Given the description of an element on the screen output the (x, y) to click on. 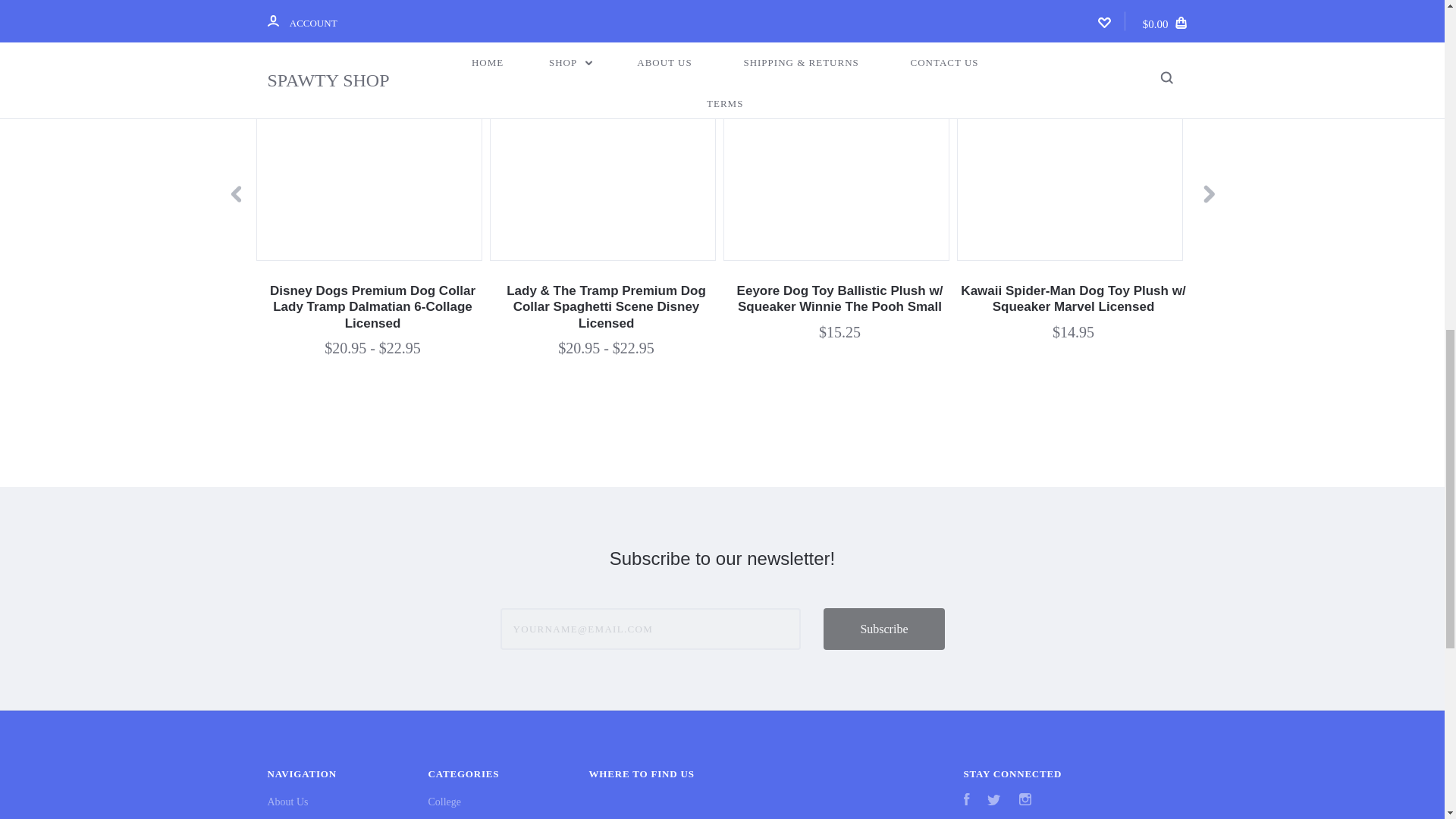
Subscribe (883, 629)
twitter (994, 799)
instagram (1024, 799)
